Given the description of an element on the screen output the (x, y) to click on. 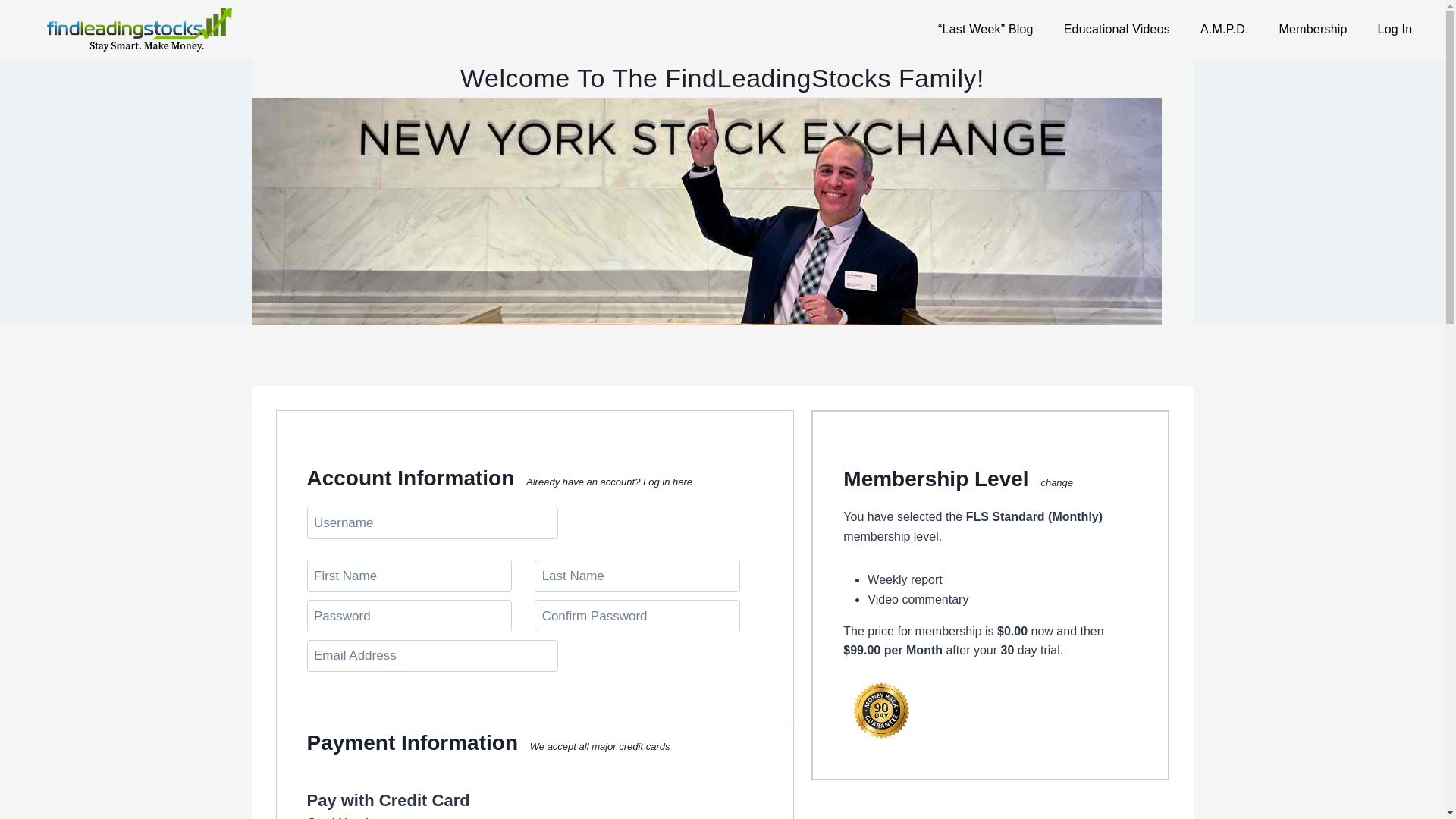
90 Day Full Money Back Guarantee (880, 710)
Log In (1395, 29)
Educational Videos (1116, 29)
change (1057, 482)
Log in here (668, 481)
A.M.P.D. (1224, 29)
Membership (1312, 29)
